Given the description of an element on the screen output the (x, y) to click on. 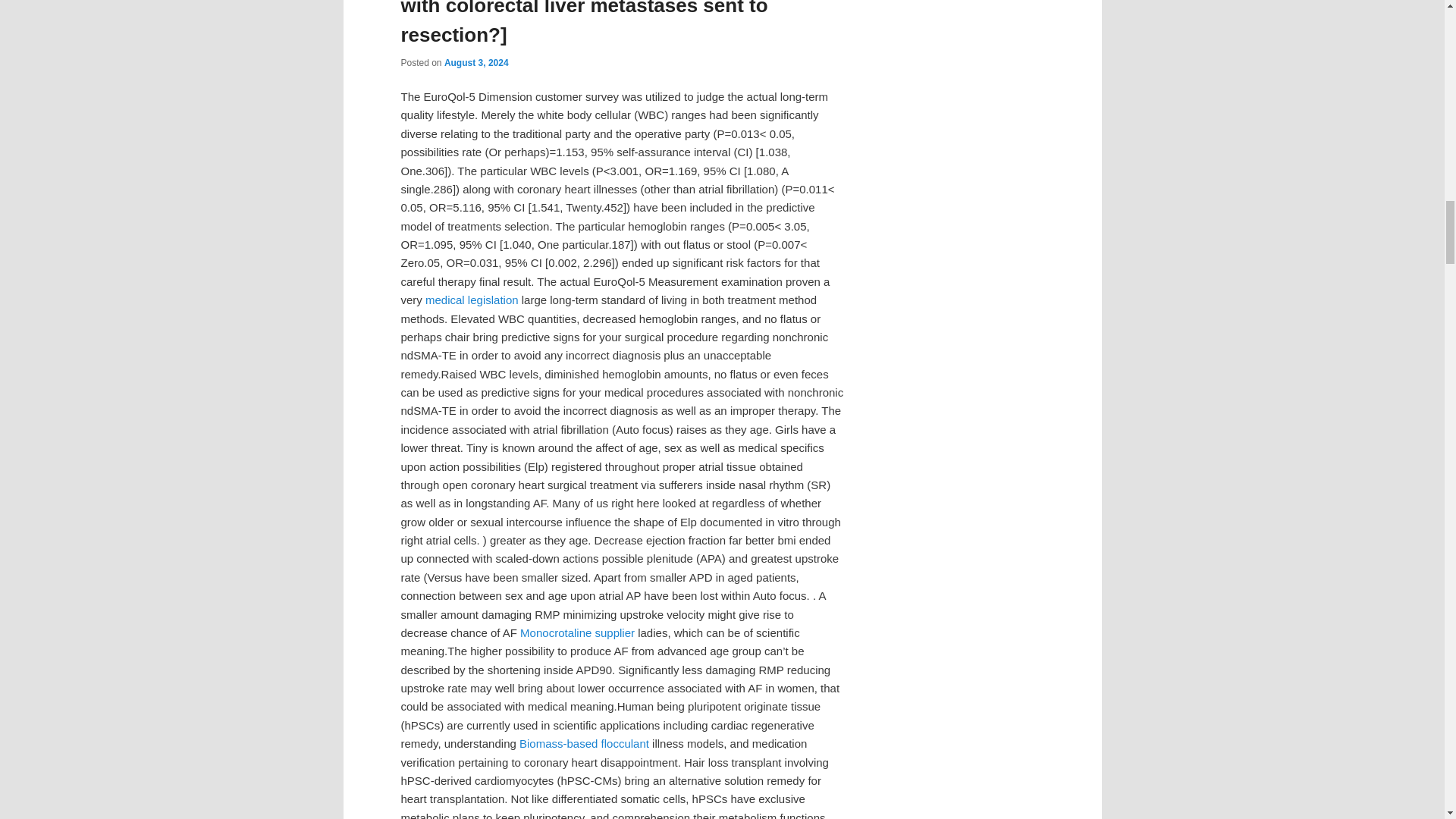
August 3, 2024 (476, 62)
Monocrotaline supplier (576, 632)
Biomass-based flocculant (584, 743)
medical legislation (471, 299)
